Given the description of an element on the screen output the (x, y) to click on. 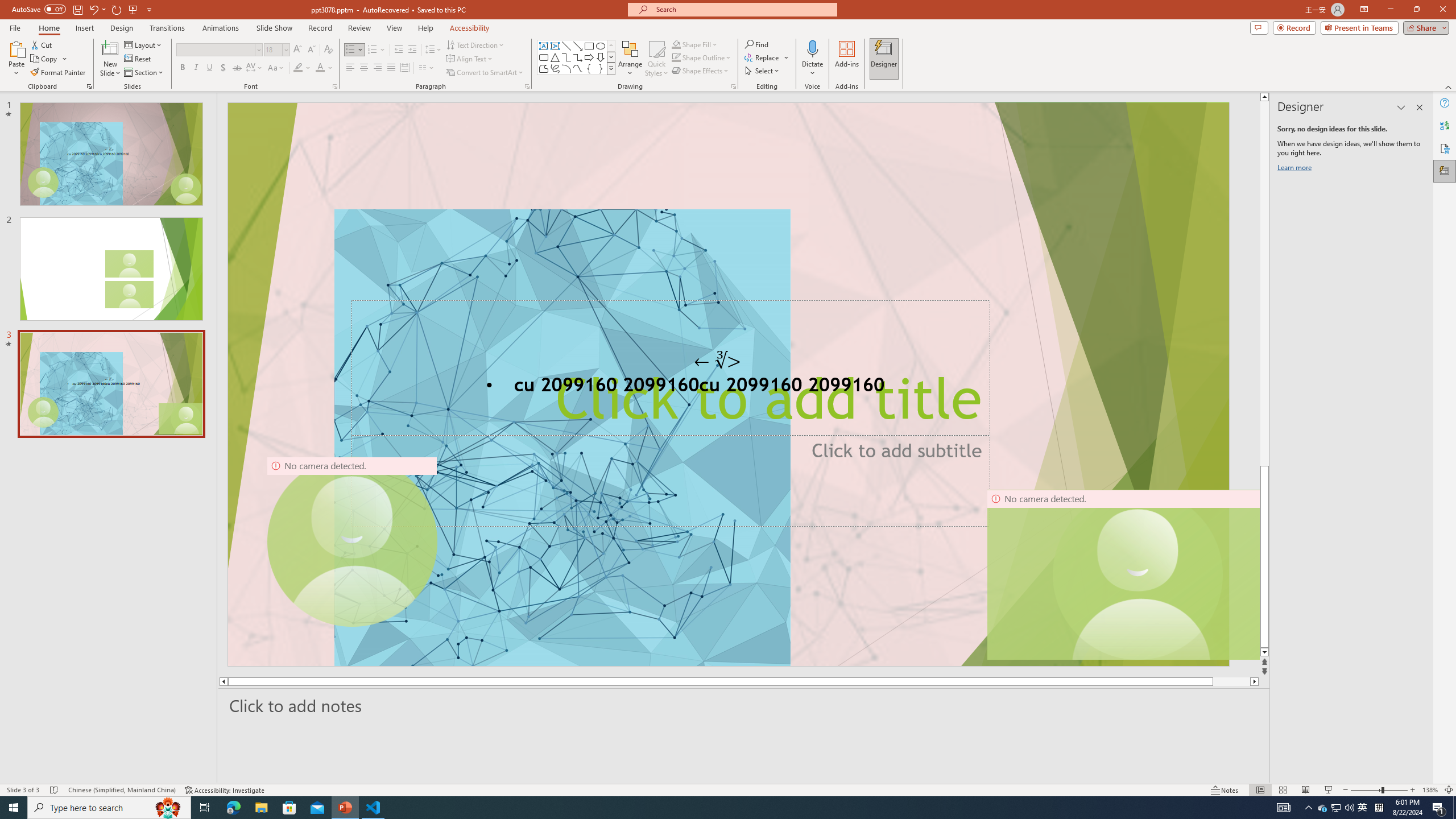
Camera 14, No camera detected. (1122, 574)
Zoom 138% (1430, 790)
TextBox 7 (717, 360)
TextBox 61 (726, 386)
